Given the description of an element on the screen output the (x, y) to click on. 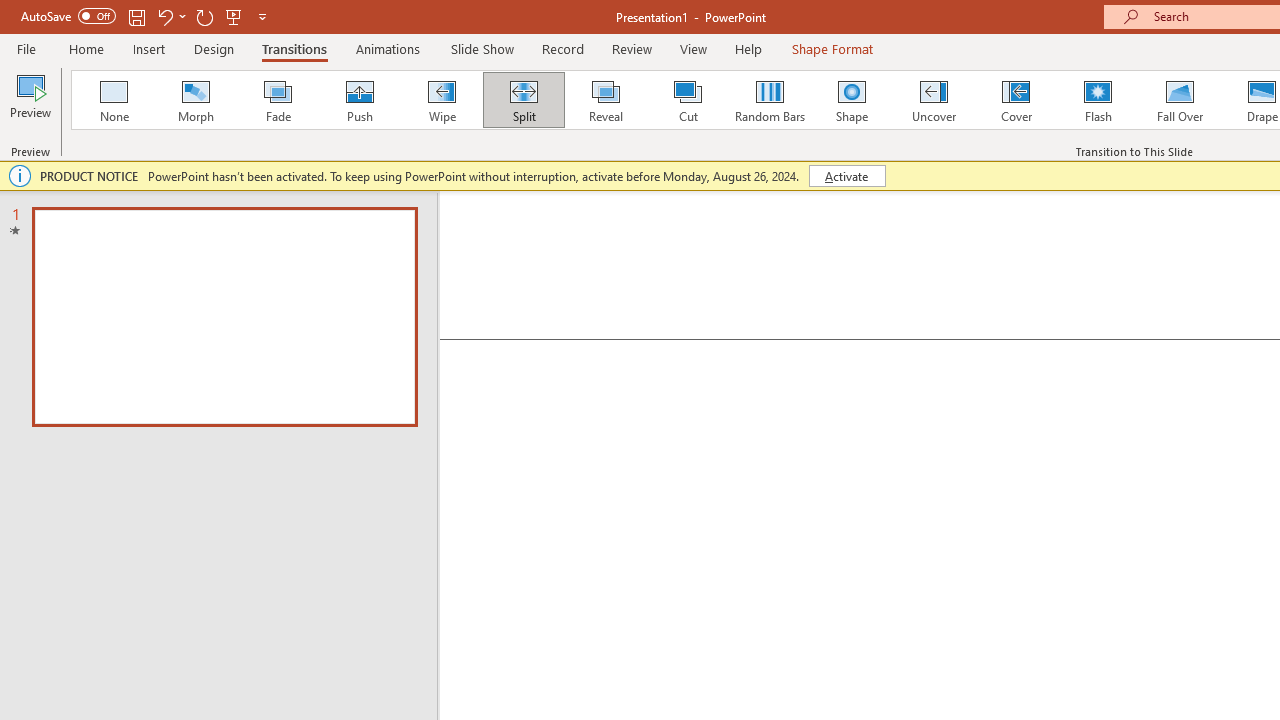
Fade (277, 100)
Shape (852, 100)
Uncover (934, 100)
Morph (195, 100)
Cover (1016, 100)
